Given the description of an element on the screen output the (x, y) to click on. 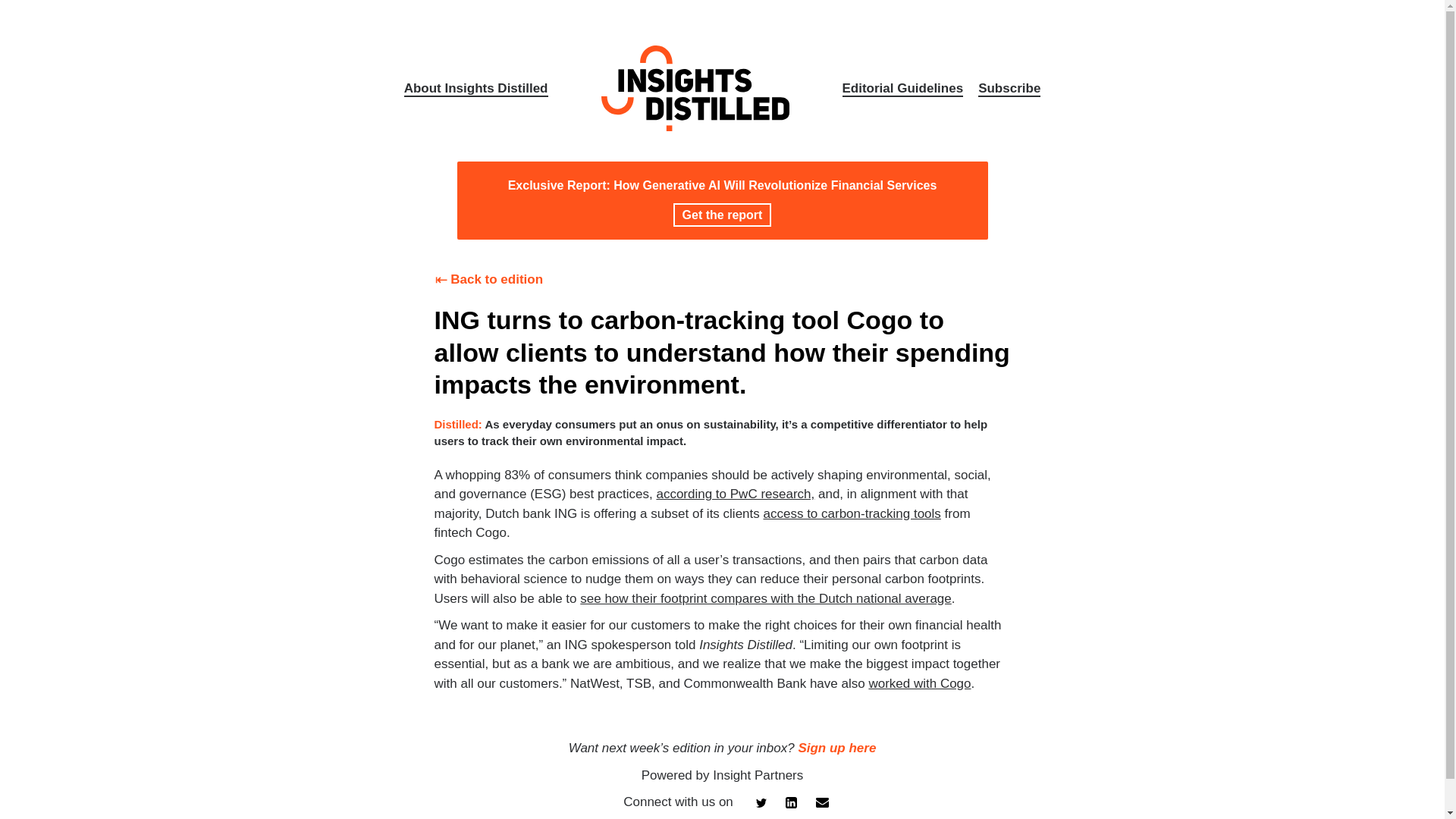
according to PwC research, (734, 493)
Editorial Guidelines (901, 89)
access to carbon-tracking tools (851, 513)
About Insights Distilled (476, 89)
worked with Cogo (919, 683)
Get the report (721, 214)
Subscribe (1009, 89)
Sign up here (836, 748)
